Given the description of an element on the screen output the (x, y) to click on. 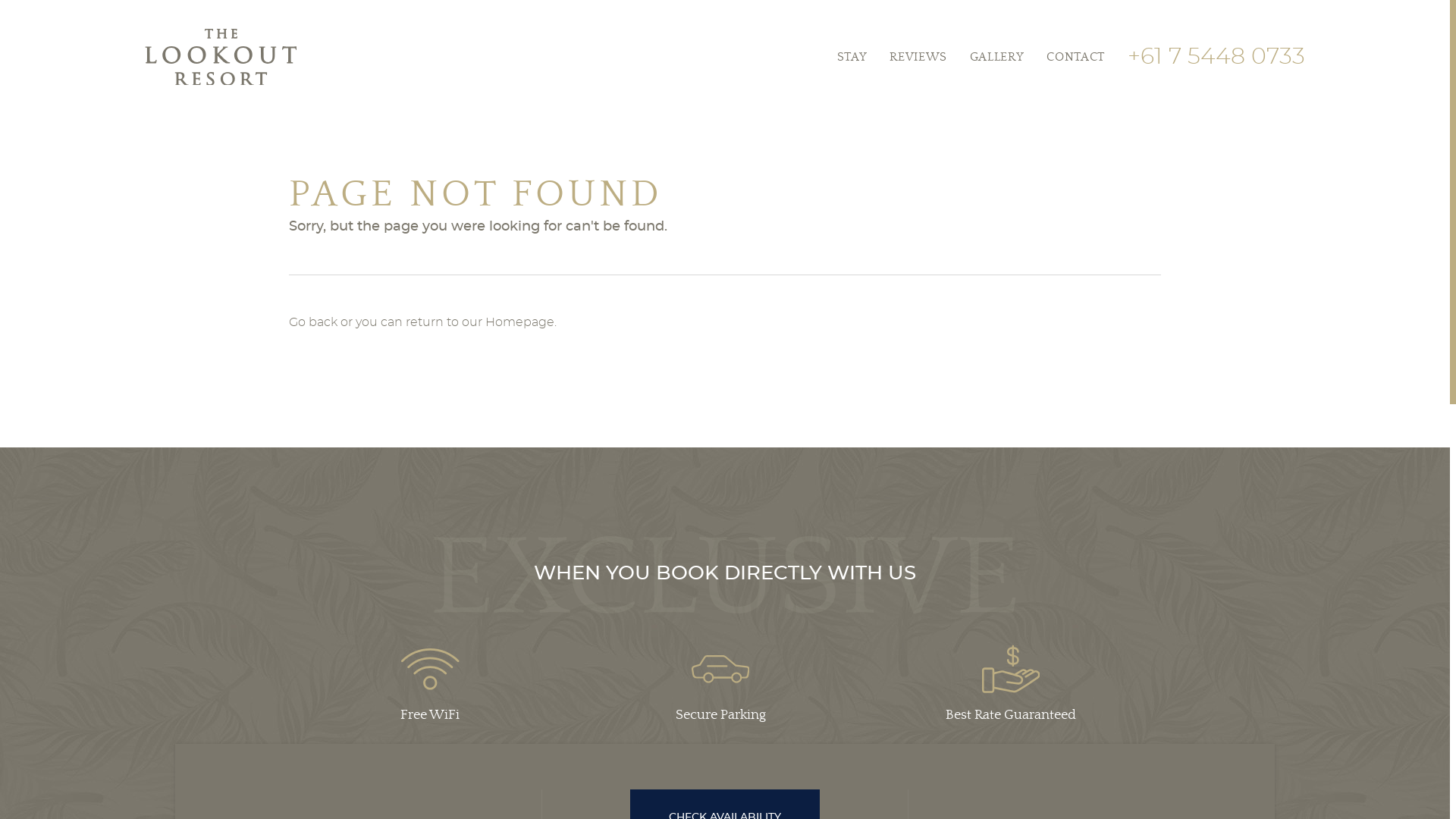
REVIEWS Element type: text (917, 56)
Homepage Element type: text (519, 322)
Go back Element type: text (312, 322)
CONTACT Element type: text (1075, 56)
The Lookout Resort Noosa Element type: hover (220, 56)
+61 7 5448 0733 Element type: text (1216, 56)
GALLERY Element type: text (996, 56)
STAY Element type: text (851, 56)
